Given the description of an element on the screen output the (x, y) to click on. 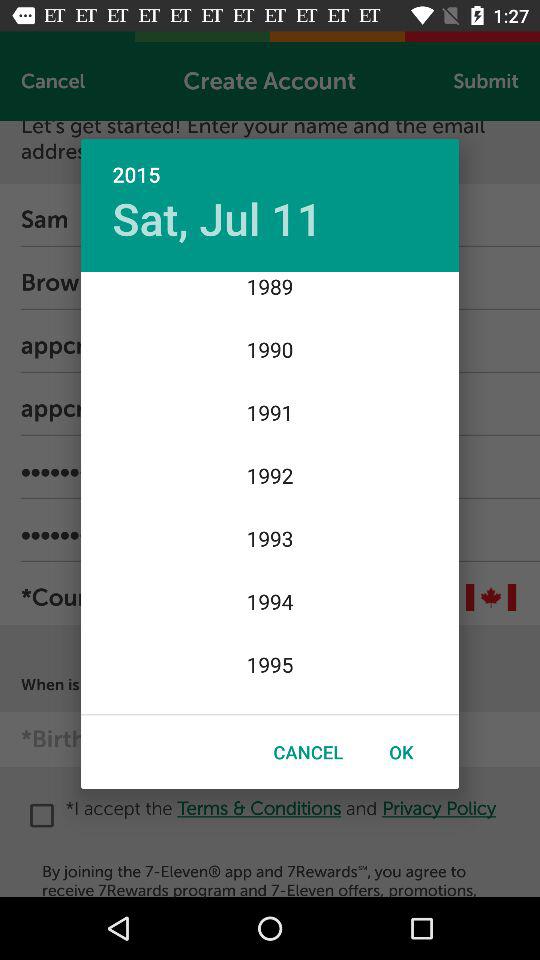
scroll until 2015 (269, 163)
